Given the description of an element on the screen output the (x, y) to click on. 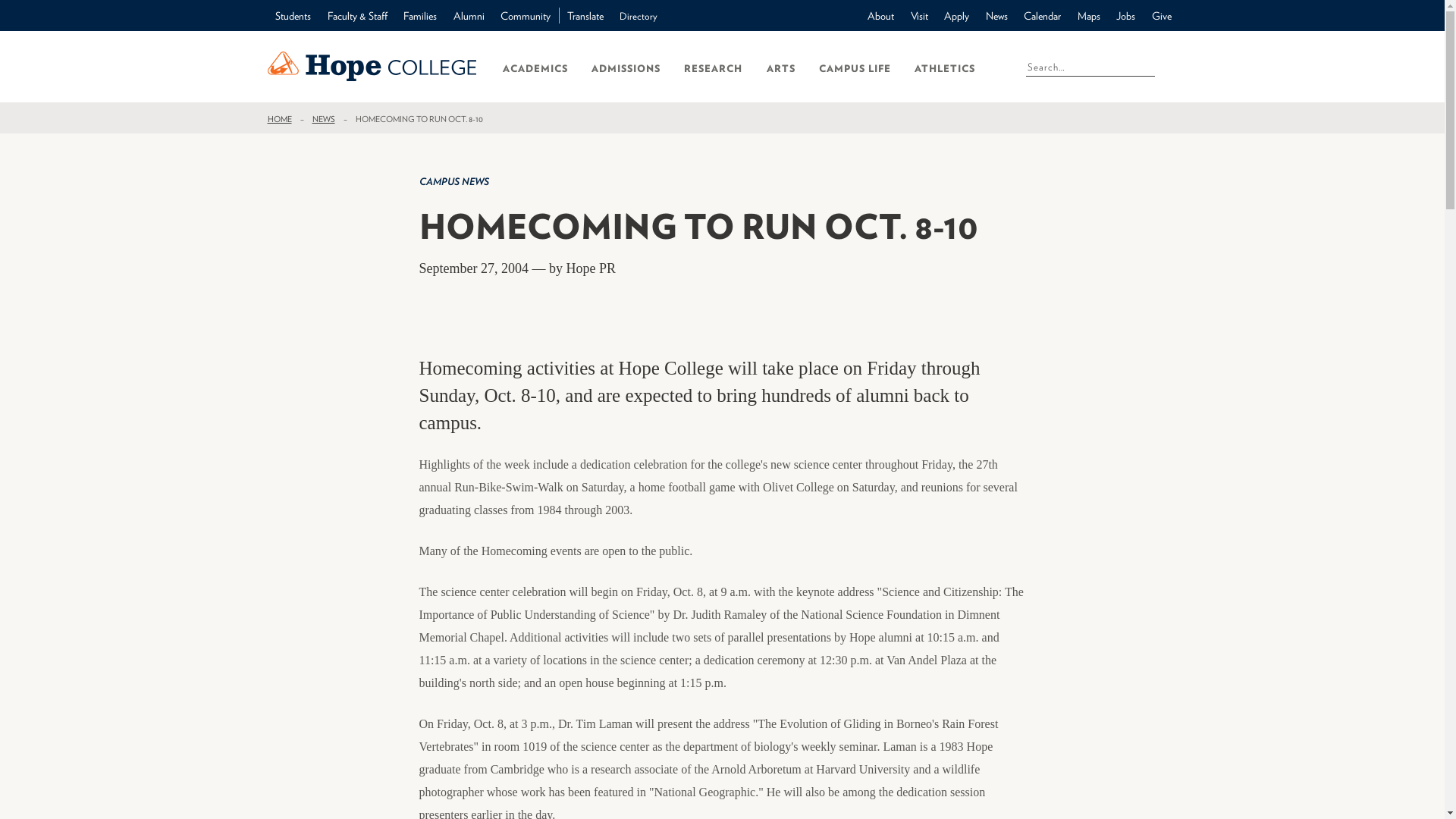
SEARCH (1161, 65)
ADMISSIONS (625, 66)
RESEARCH (713, 66)
ACADEMICS (535, 66)
